Given the description of an element on the screen output the (x, y) to click on. 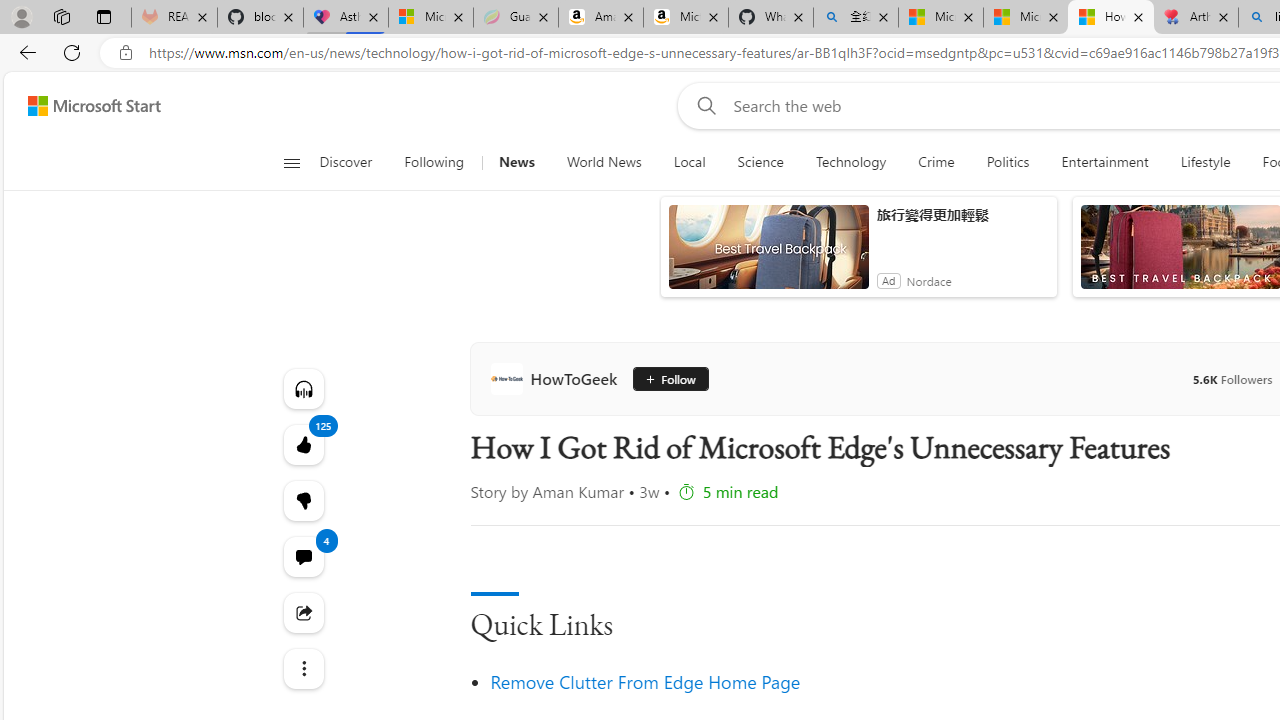
Back (24, 52)
Open navigation menu (291, 162)
Skip to content (86, 105)
Listen to this article (302, 388)
Class: at-item (302, 668)
Asthma Inhalers: Names and Types (345, 17)
Arthritis: Ask Health Professionals (1195, 17)
Crime (936, 162)
Science (760, 162)
View comments 4 Comment (302, 556)
Nordace (929, 280)
Lifestyle (1204, 162)
Web search (702, 105)
